Given the description of an element on the screen output the (x, y) to click on. 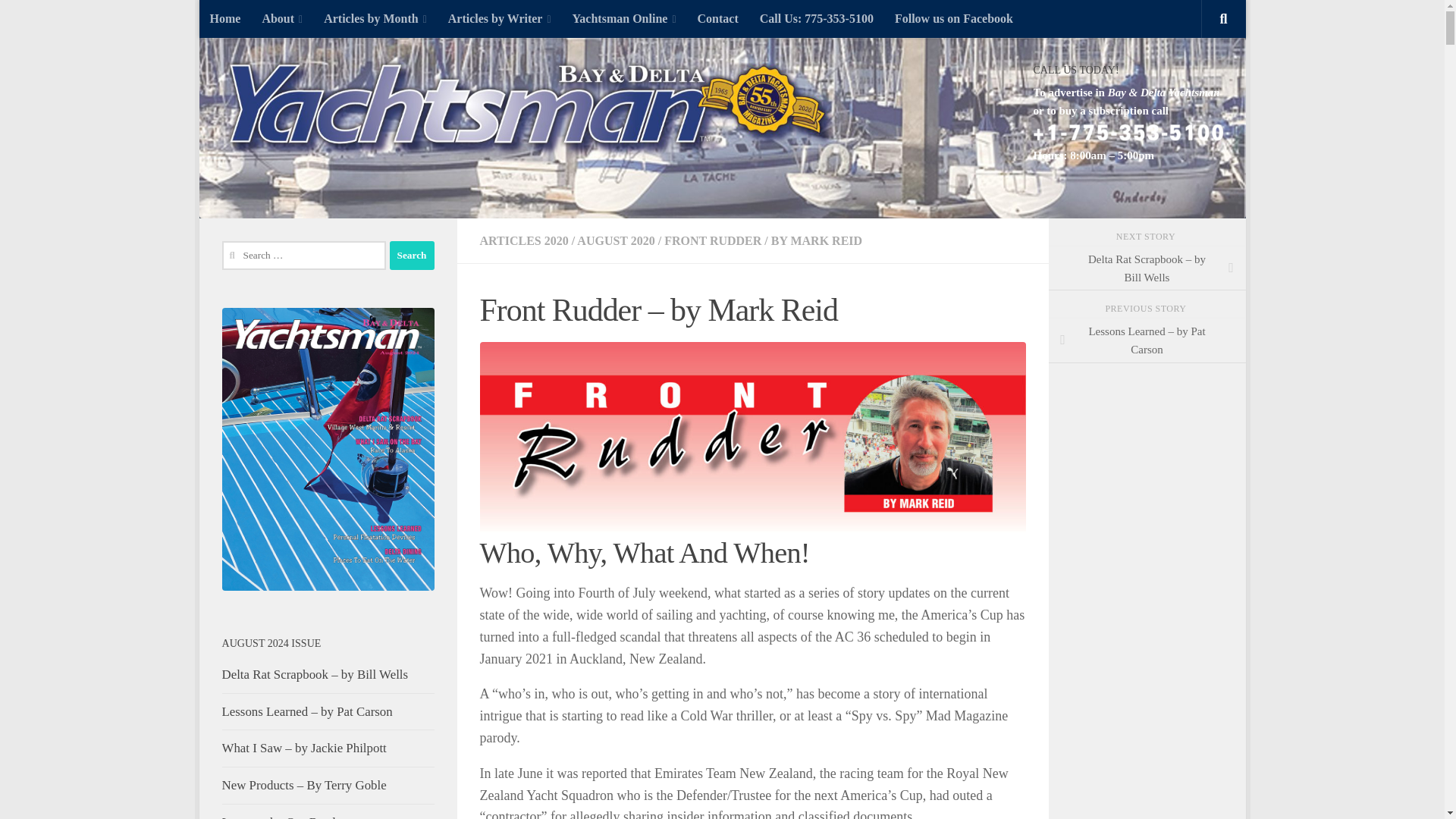
Skip to content (258, 20)
Search (411, 255)
Search (411, 255)
